Given the description of an element on the screen output the (x, y) to click on. 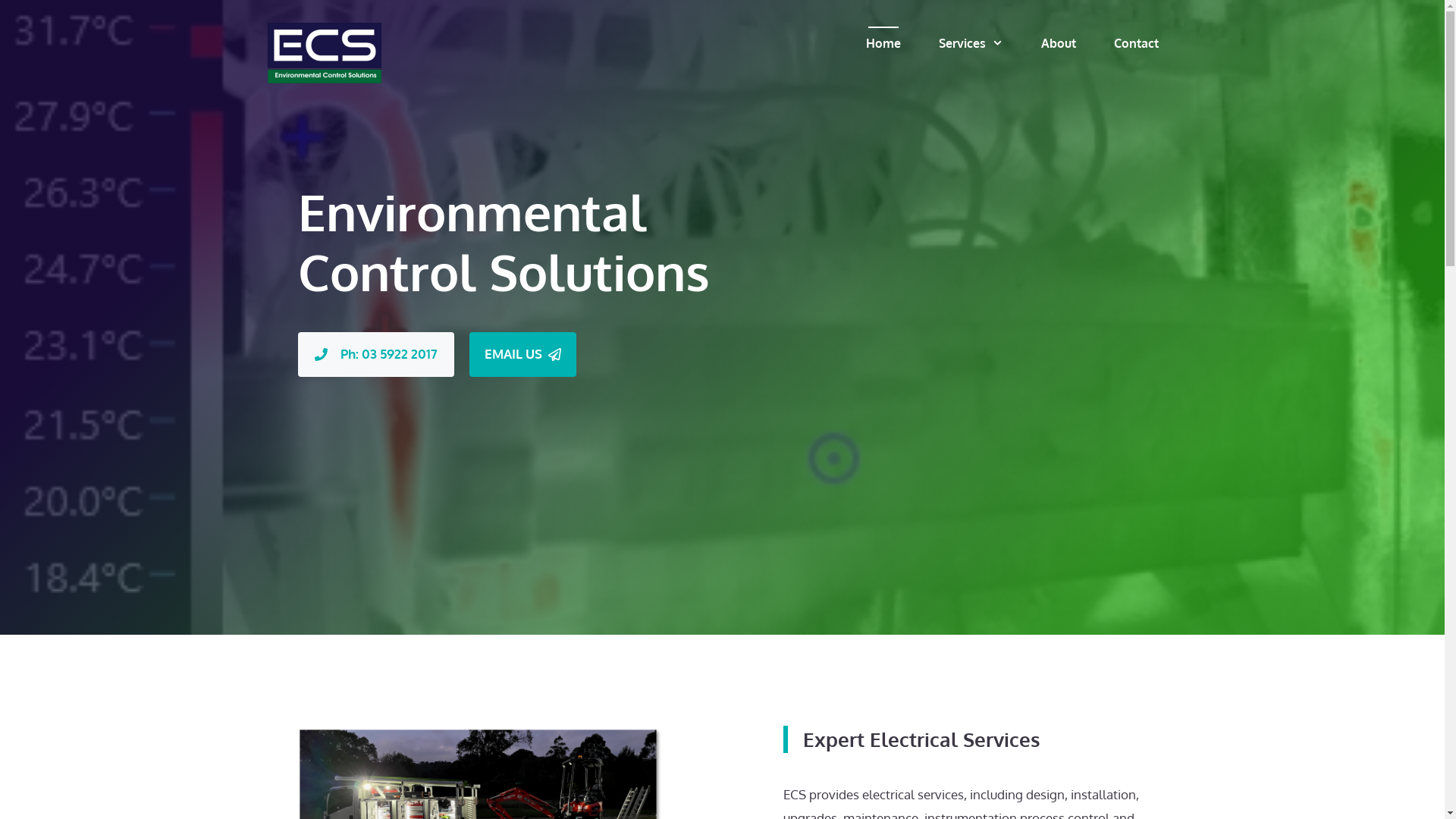
Services Element type: text (970, 42)
EMAIL US Element type: text (522, 354)
Contact Element type: text (1136, 42)
Home Element type: text (883, 42)
About Element type: text (1058, 42)
Ph: 03 5922 2017 Element type: text (375, 354)
